Given the description of an element on the screen output the (x, y) to click on. 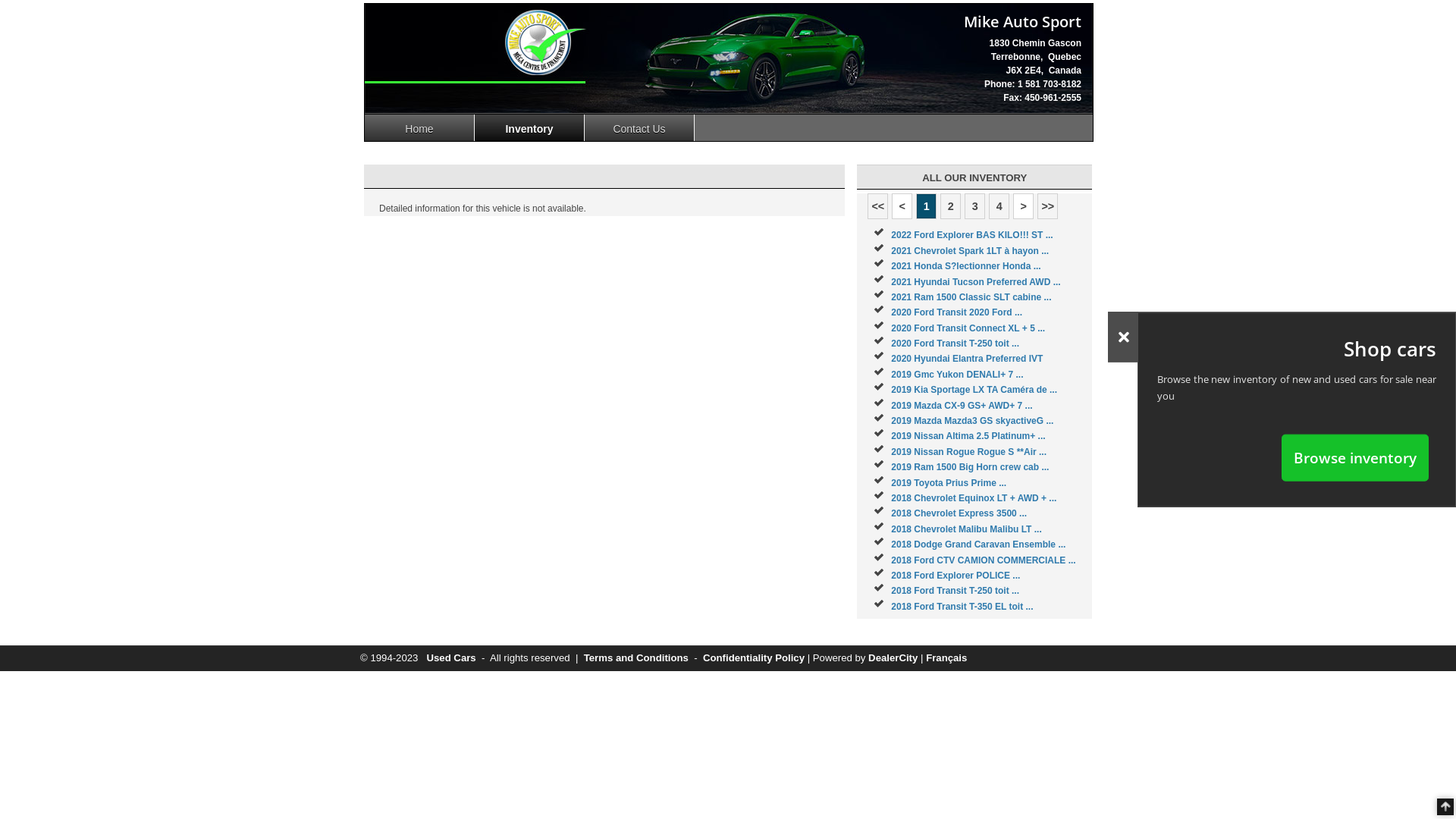
Confidentiality Policy Element type: text (753, 657)
2018 Ford CTV CAMION COMMERCIALE ... Element type: text (983, 560)
2018 Chevrolet Malibu Malibu LT ... Element type: text (966, 529)
2019 Mazda CX-9 GS+ AWD+ 7 ... Element type: text (961, 405)
2020 Ford Transit T-250 toit ... Element type: text (955, 343)
2021 Hyundai Tucson Preferred AWD ... Element type: text (975, 281)
>> Element type: text (1047, 206)
DealerCity Element type: text (892, 657)
Inventory Element type: text (529, 127)
2018 Chevrolet Equinox LT + AWD + ... Element type: text (973, 497)
2019 Gmc Yukon DENALI+ 7 ... Element type: text (956, 374)
2019 Mazda Mazda3 GS skyactiveG ... Element type: text (972, 420)
2021 Honda S?lectionner Honda ... Element type: text (965, 265)
2019 Toyota Prius Prime ... Element type: text (948, 482)
> Element type: text (1023, 206)
2018 Ford Transit T-250 toit ... Element type: text (955, 590)
2020 Hyundai Elantra Preferred IVT Element type: text (966, 358)
2018 Ford Transit T-350 EL toit ... Element type: text (961, 606)
Contact Us Element type: text (639, 127)
2019 Nissan Rogue Rogue S **Air ... Element type: text (968, 451)
Home Element type: text (419, 127)
Terms and Conditions Element type: text (635, 657)
2018 Chevrolet Express 3500 ... Element type: text (958, 513)
Browse inventory Element type: text (1354, 457)
1 Element type: text (926, 206)
Used Cars Element type: text (450, 657)
< Element type: text (901, 206)
2022 Ford Explorer BAS KILO!!! ST ... Element type: text (971, 234)
2020 Ford Transit Connect XL + 5 ... Element type: text (967, 328)
2018 Dodge Grand Caravan Ensemble ... Element type: text (978, 544)
2018 Ford Explorer POLICE ... Element type: text (955, 575)
3 Element type: text (974, 206)
4 Element type: text (998, 206)
2021 Ram 1500 Classic SLT cabine ... Element type: text (971, 296)
2020 Ford Transit 2020 Ford ... Element type: text (956, 312)
2019 Nissan Altima 2.5 Platinum+ ... Element type: text (967, 435)
2019 Ram 1500 Big Horn crew cab ... Element type: text (969, 466)
<< Element type: text (877, 206)
2 Element type: text (950, 206)
